Given the description of an element on the screen output the (x, y) to click on. 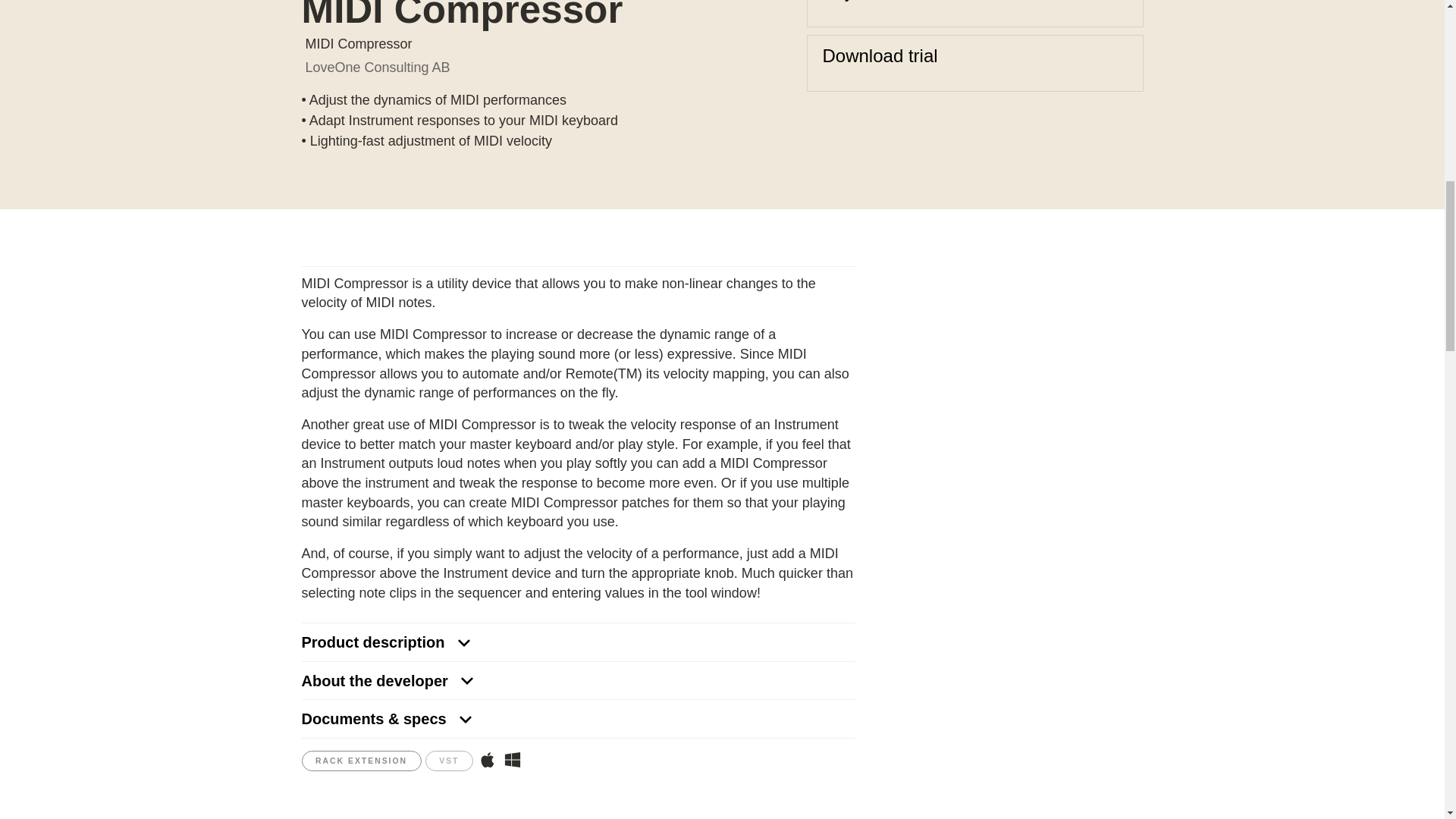
Windows compatible (512, 759)
Mac OS compatible (487, 759)
Download trial (974, 63)
About the developer (578, 681)
LoveOne Consulting AB (376, 67)
RACK EXTENSION (361, 761)
VST (449, 761)
Product description (578, 642)
